Given the description of an element on the screen output the (x, y) to click on. 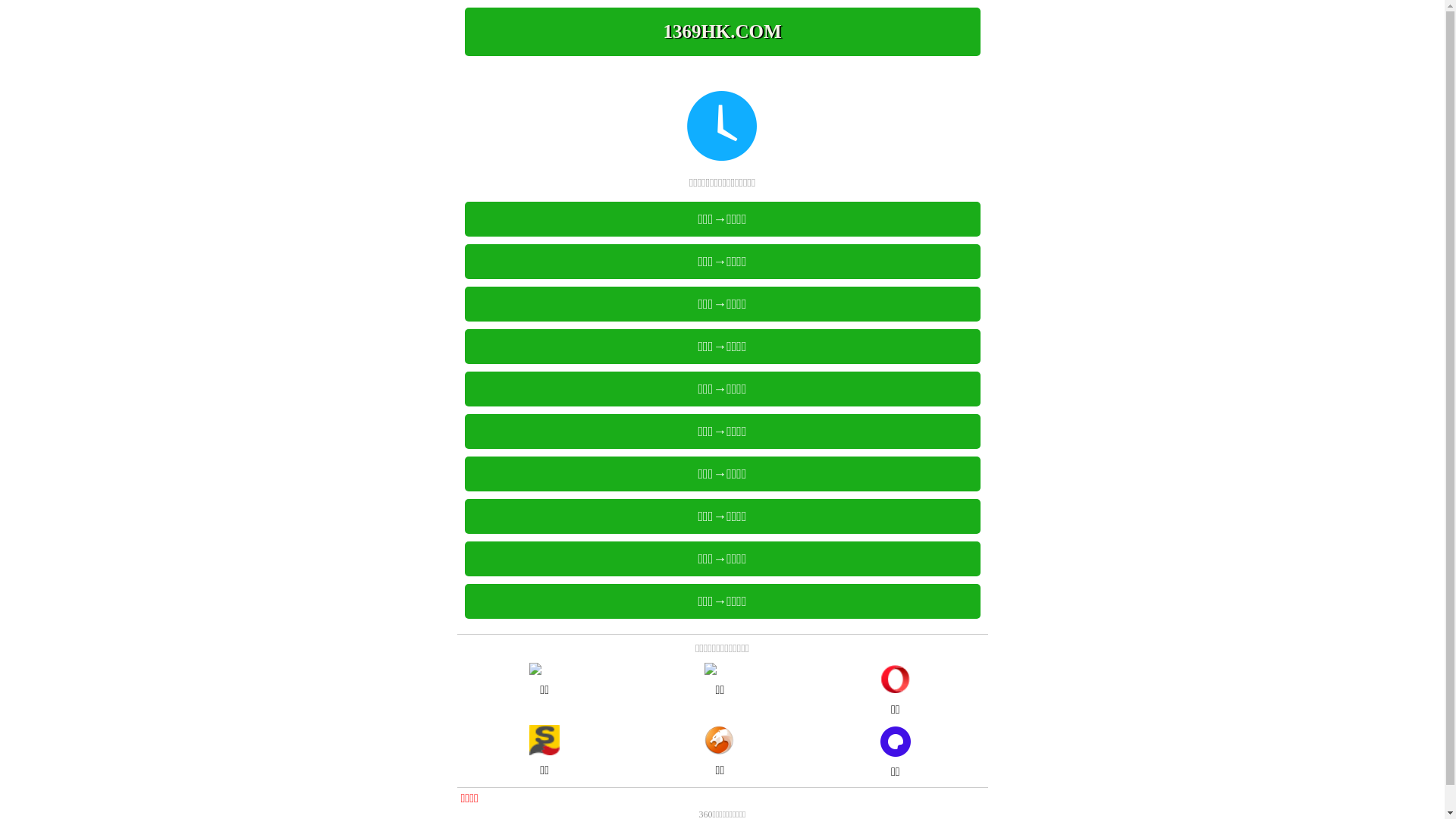
1369HK.COM Element type: text (721, 31)
